Given the description of an element on the screen output the (x, y) to click on. 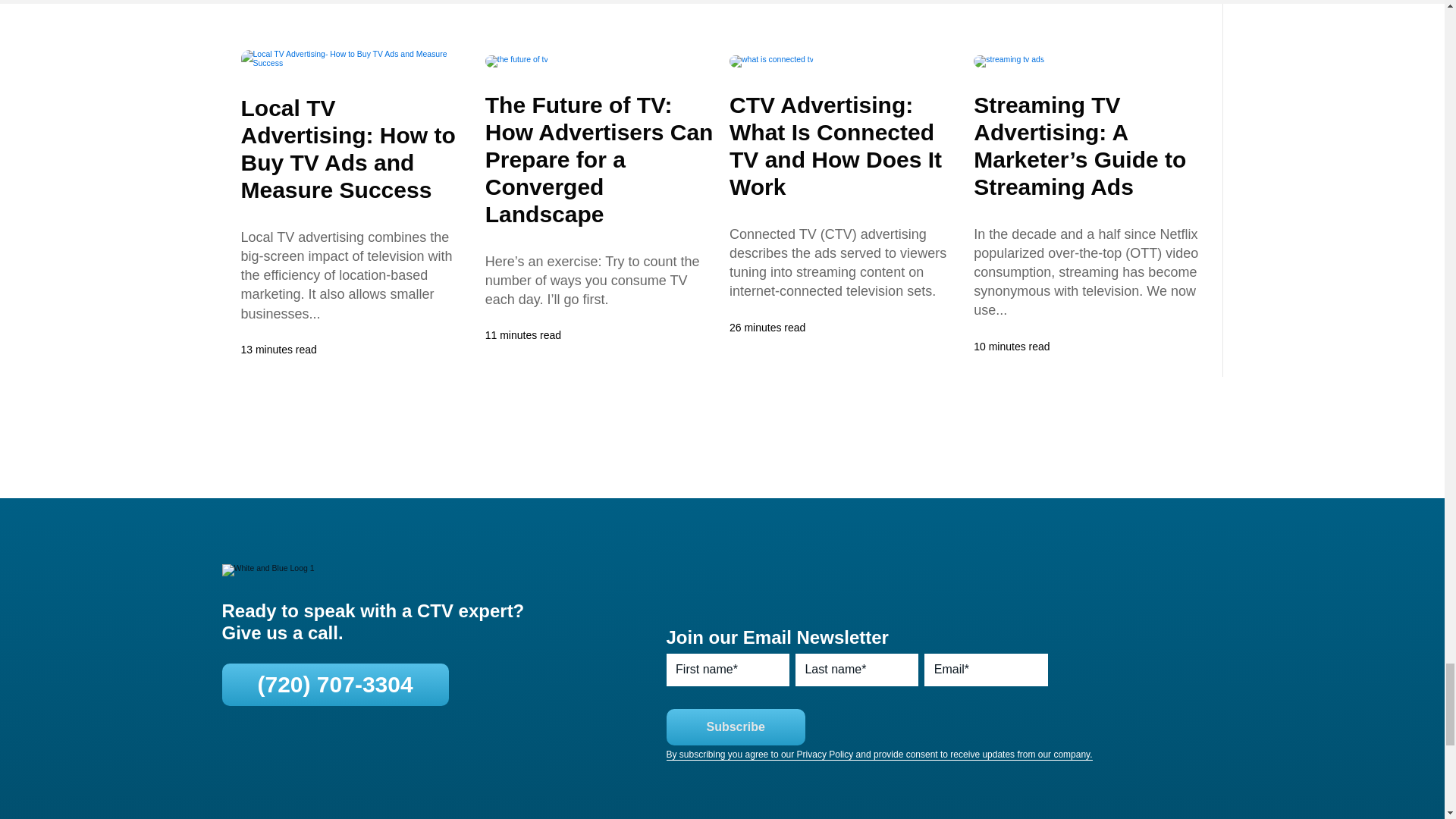
Subscribe (735, 727)
